Given the description of an element on the screen output the (x, y) to click on. 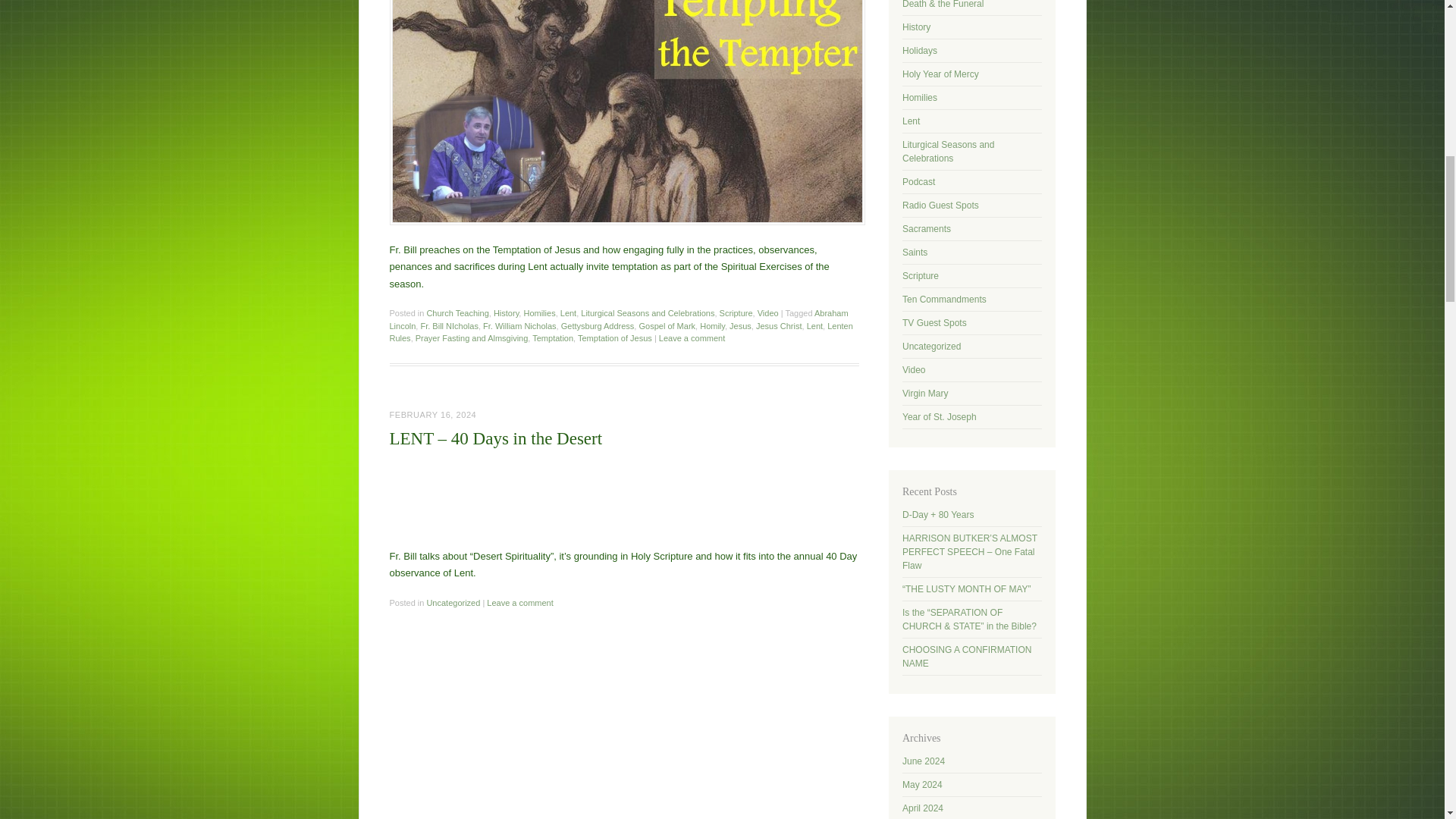
Homilies Given at Mass and other Celebrations (919, 97)
1:16 pm (433, 414)
Jesus (740, 325)
Homilies (538, 312)
Jesus Christ (778, 325)
History (505, 312)
Fr. William Nicholas (519, 325)
Homily (712, 325)
Church Teaching (456, 312)
Gettysburg Address (597, 325)
Gospel of Mark (667, 325)
Video (767, 312)
Fr. Bill NIcholas (448, 325)
